Given the description of an element on the screen output the (x, y) to click on. 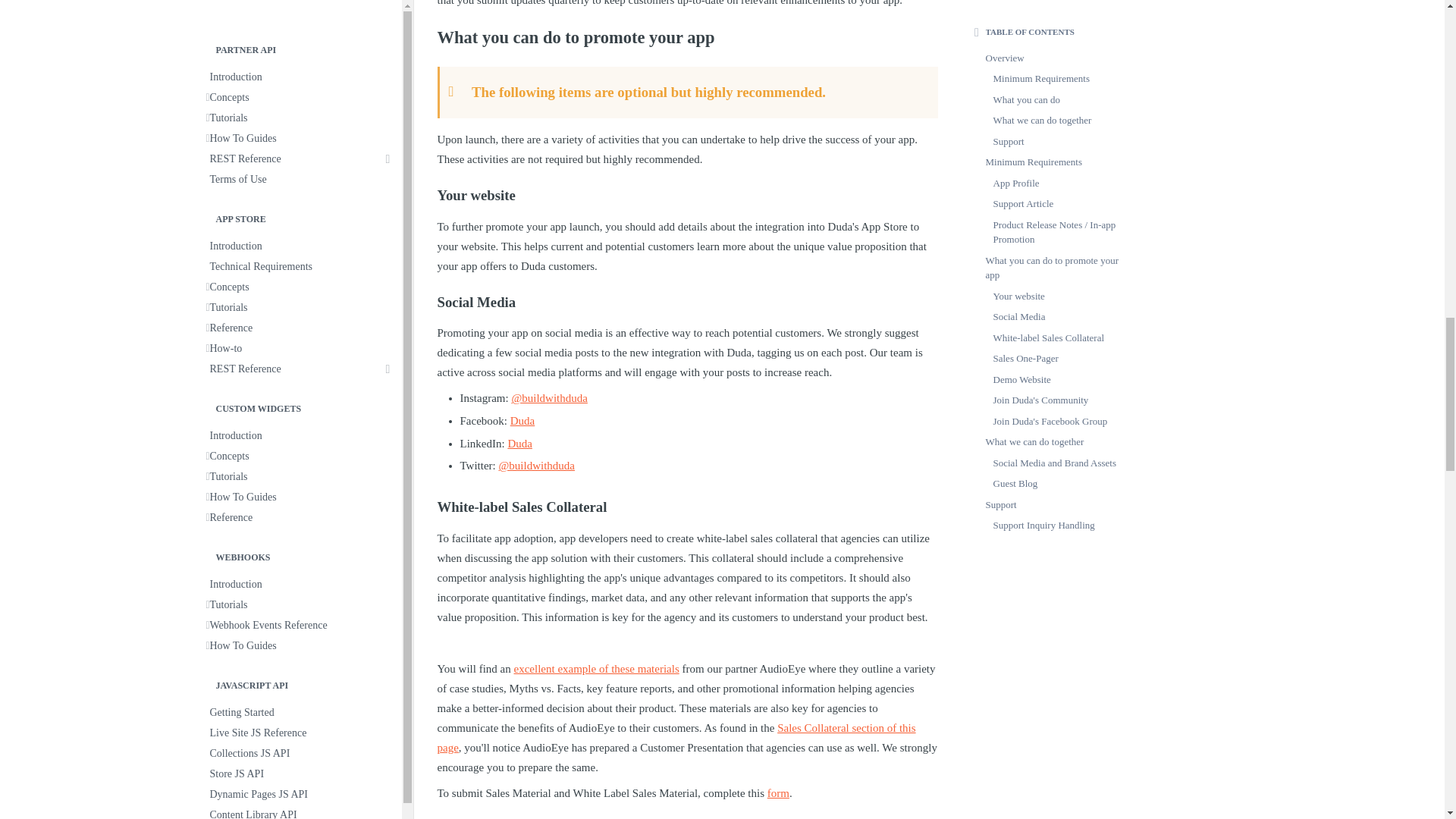
Your website (686, 189)
Sales One-Pager (686, 814)
What you can do to promote your app (686, 31)
White-label Sales Collateral (686, 500)
Social Media (686, 296)
